Given the description of an element on the screen output the (x, y) to click on. 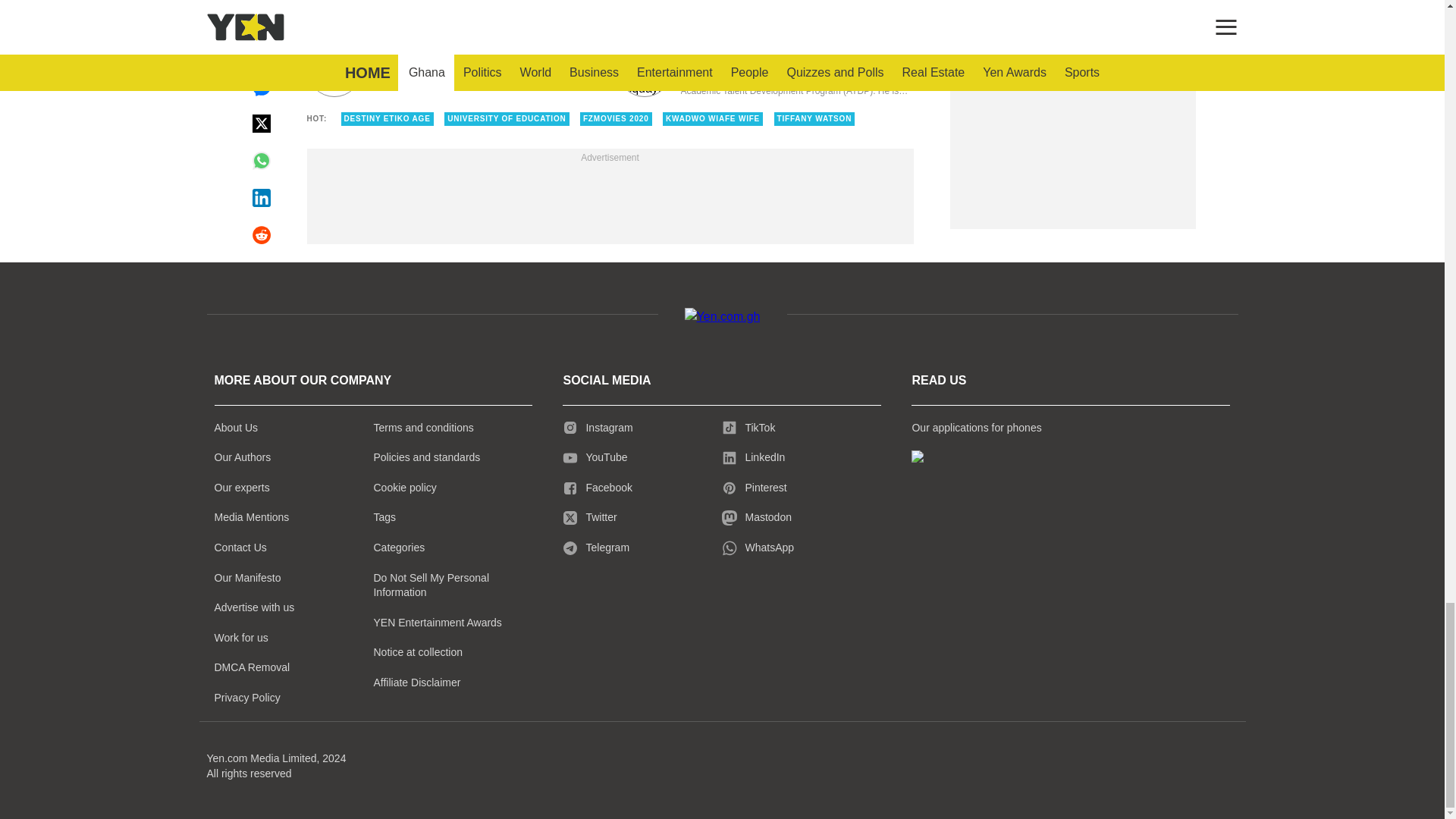
Author page (453, 69)
Author page (765, 69)
